Given the description of an element on the screen output the (x, y) to click on. 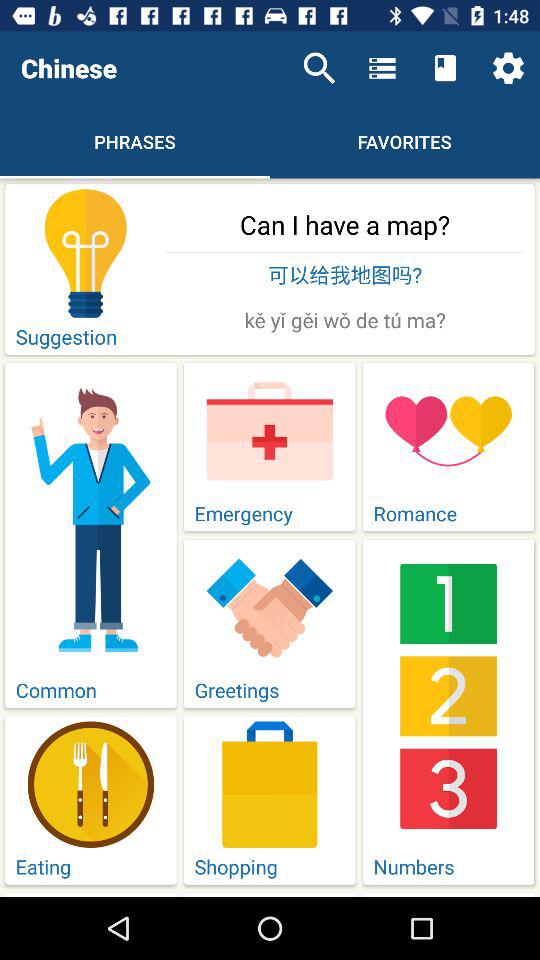
launch the icon next to chinese (319, 67)
